Given the description of an element on the screen output the (x, y) to click on. 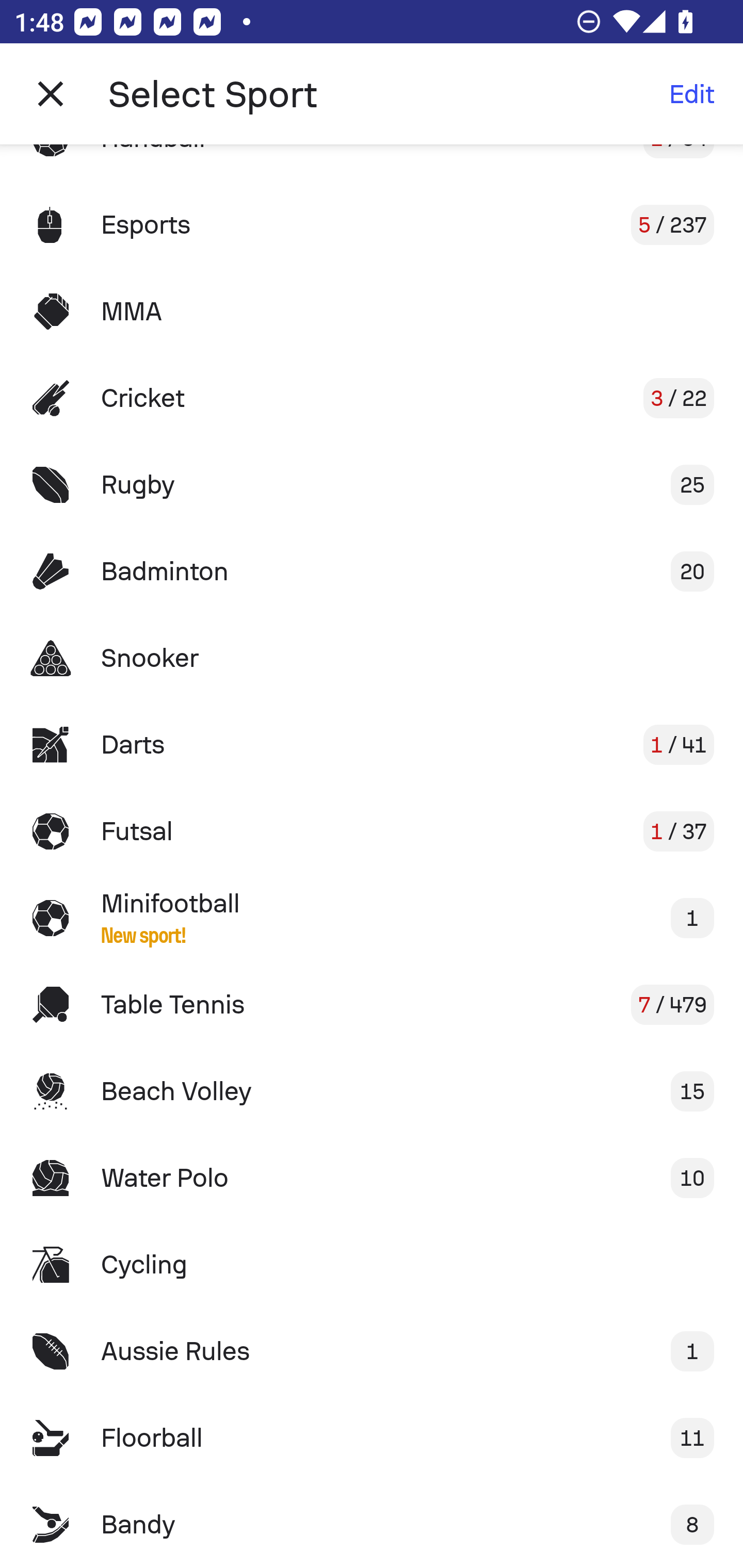
Edit (691, 93)
Esports 5 / 237 (371, 224)
MMA (371, 311)
Cricket 3 / 22 (371, 398)
Rugby 25 (371, 485)
Badminton 20 (371, 571)
Snooker (371, 657)
Darts 1 / 41 (371, 744)
Futsal 1 / 37 (371, 831)
Minifootball New sport! 1 (371, 917)
Table Tennis 7 / 479 (371, 1004)
Beach Volley 15 (371, 1091)
Water Polo 10 (371, 1178)
Cycling (371, 1264)
Aussie Rules 1 (371, 1350)
Floorball 11 (371, 1437)
Bandy 8 (371, 1524)
